Given the description of an element on the screen output the (x, y) to click on. 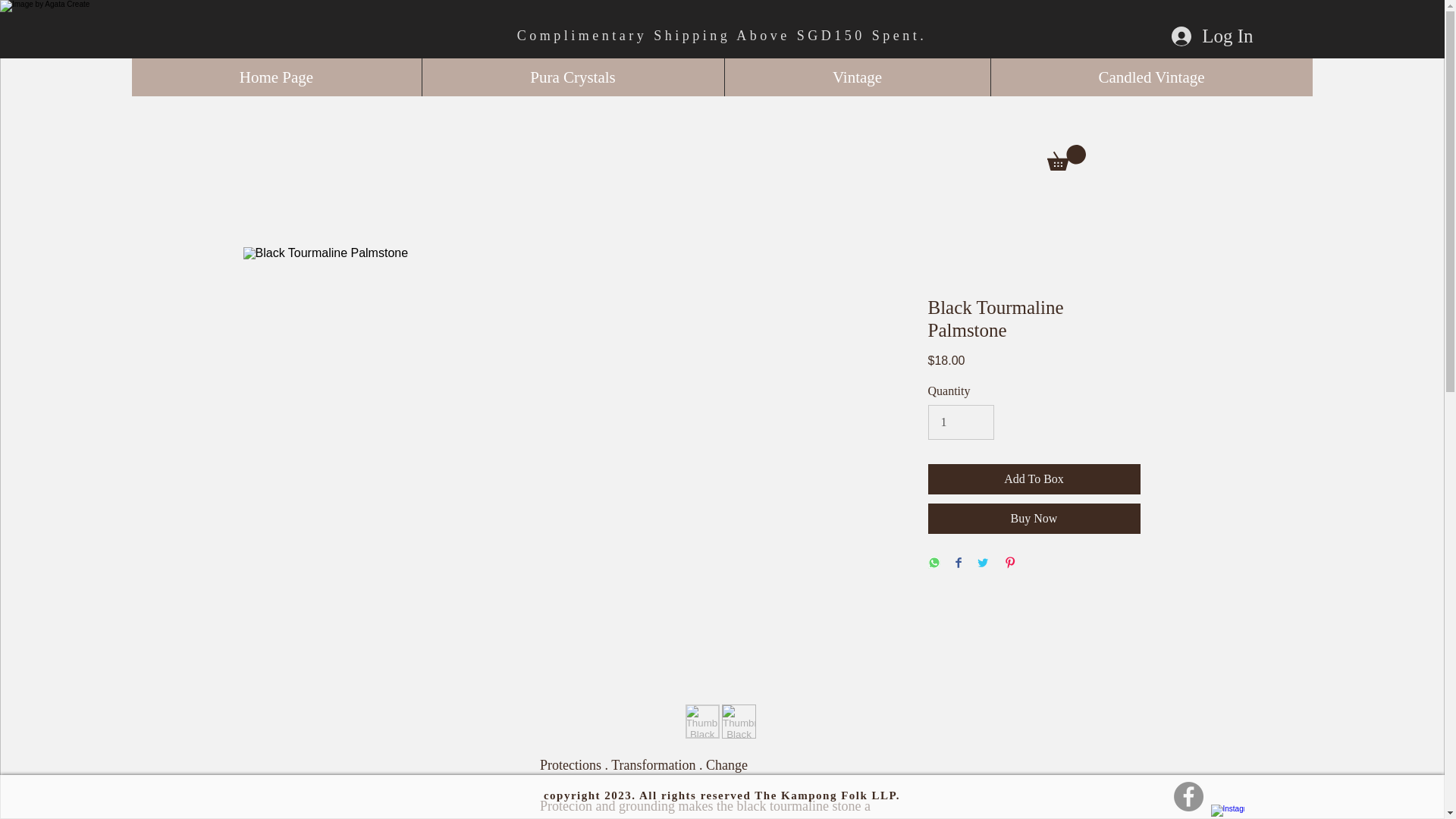
Add To Box (1034, 479)
1 (961, 421)
Buy Now (1034, 518)
Pura Crystals (572, 77)
Vintage (856, 77)
Log In (1211, 36)
Candled Vintage (1151, 77)
Home Page (277, 77)
